Given the description of an element on the screen output the (x, y) to click on. 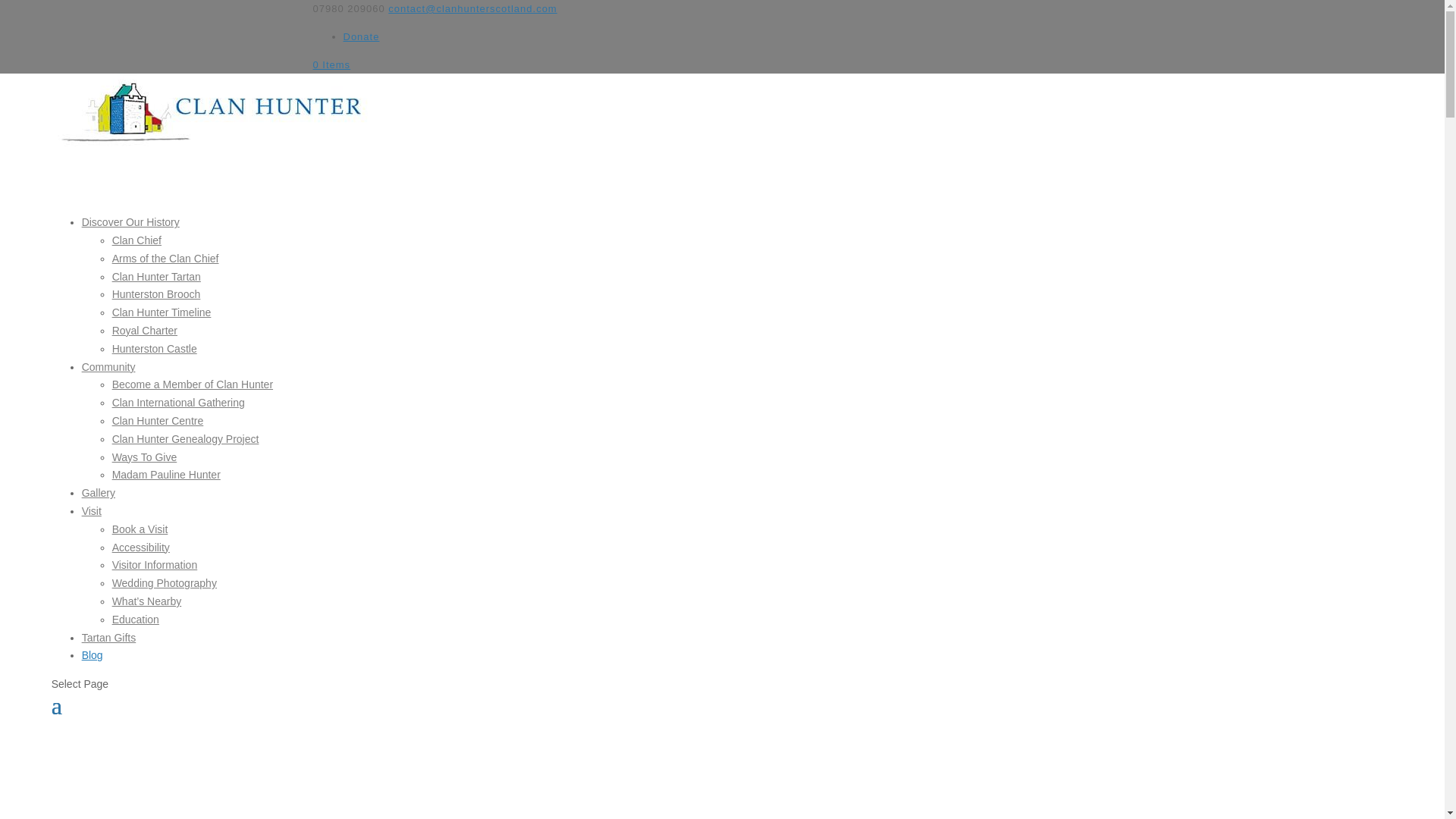
Clan Hunter Genealogy Project (185, 439)
Hunterston Brooch (156, 294)
0 Items (331, 64)
Community (108, 390)
Tartan Gifts (108, 661)
Royal Charter (144, 330)
Discover Our History (130, 246)
Visitor Information (155, 564)
Arms of the Clan Chief (165, 258)
Madam Pauline Hunter (166, 474)
Clan Chief (136, 240)
Book a Visit (140, 529)
Wedding Photography (164, 582)
Clan Hunter Centre (157, 420)
Ways To Give (144, 457)
